Given the description of an element on the screen output the (x, y) to click on. 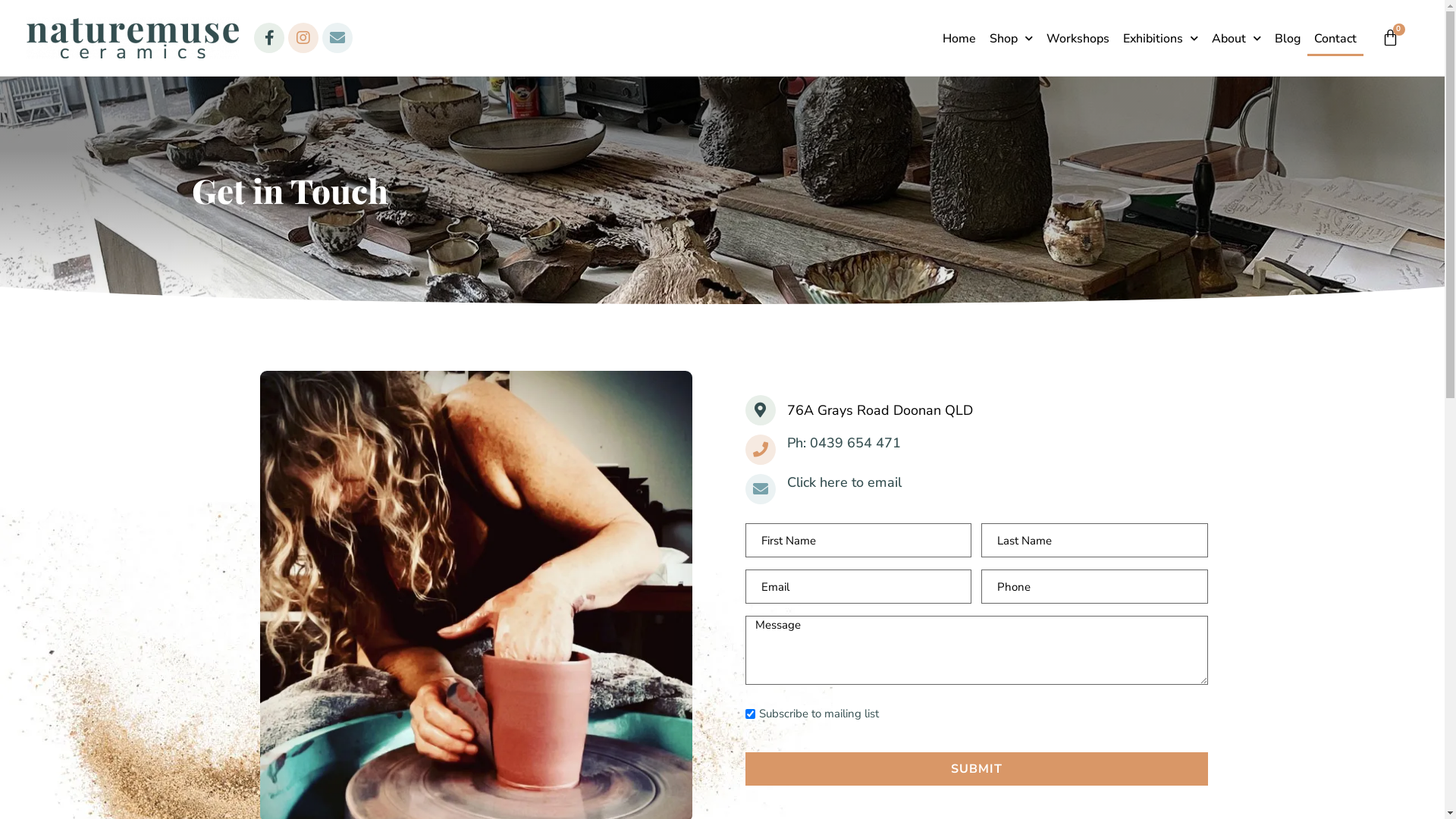
Exhibitions Element type: text (1160, 38)
Blog Element type: text (1287, 38)
Shop Element type: text (1010, 38)
Submit Element type: text (975, 768)
Ph: 0439 654 471 Element type: text (843, 442)
Workshops Element type: text (1077, 38)
Click here to email Element type: text (844, 482)
logo-naturemuse-ceramics Element type: hover (132, 37)
About Element type: text (1235, 38)
Home Element type: text (958, 38)
Contact Element type: text (1335, 38)
